Given the description of an element on the screen output the (x, y) to click on. 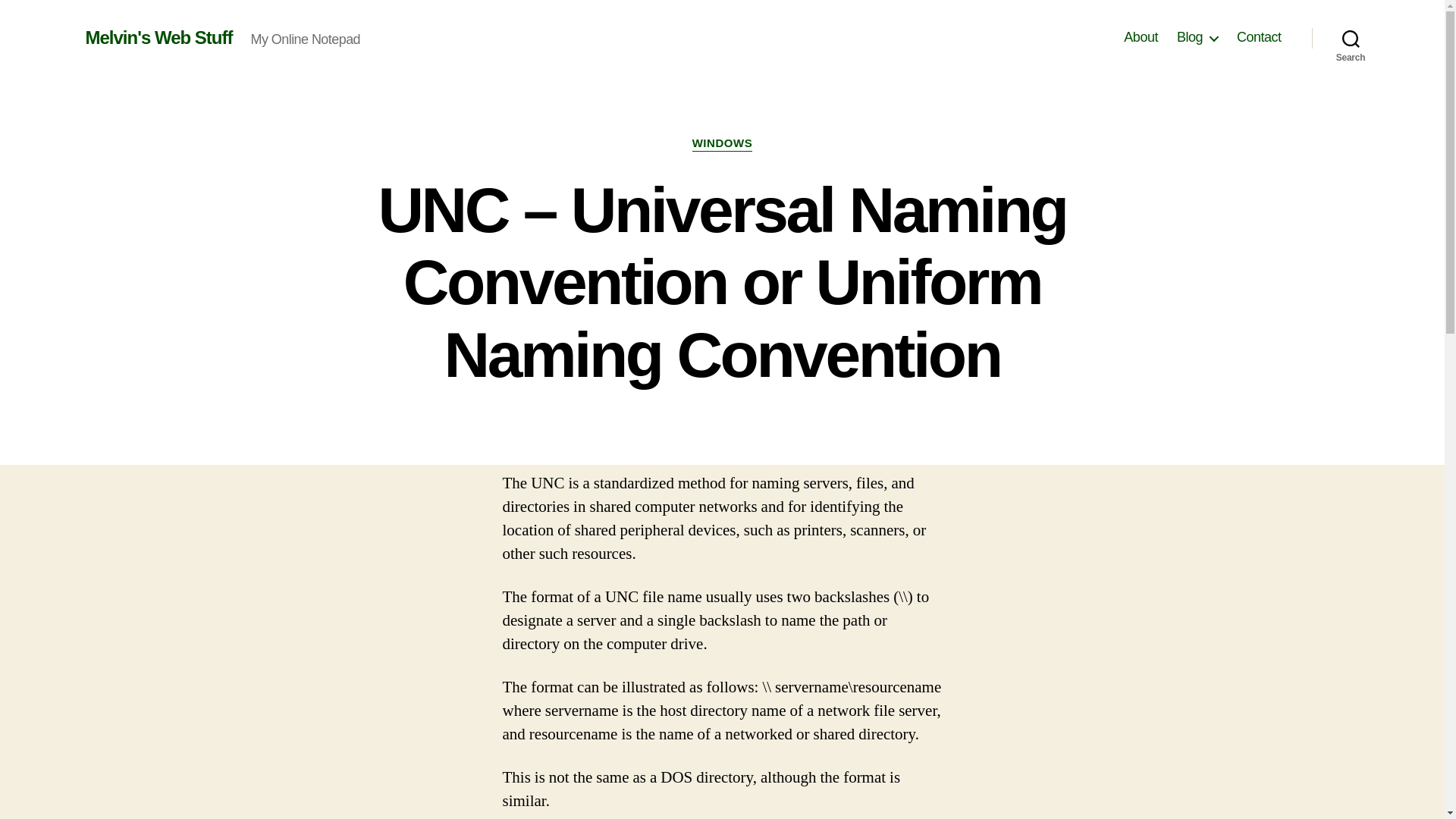
About (1140, 37)
My Blog Posts (1196, 37)
Contact Melvin (1258, 37)
Search (1350, 37)
Melvin's Web Stuff (157, 37)
Blog (1196, 37)
Contact (1258, 37)
WINDOWS (722, 143)
My LinkedIn Profile (1140, 37)
